Given the description of an element on the screen output the (x, y) to click on. 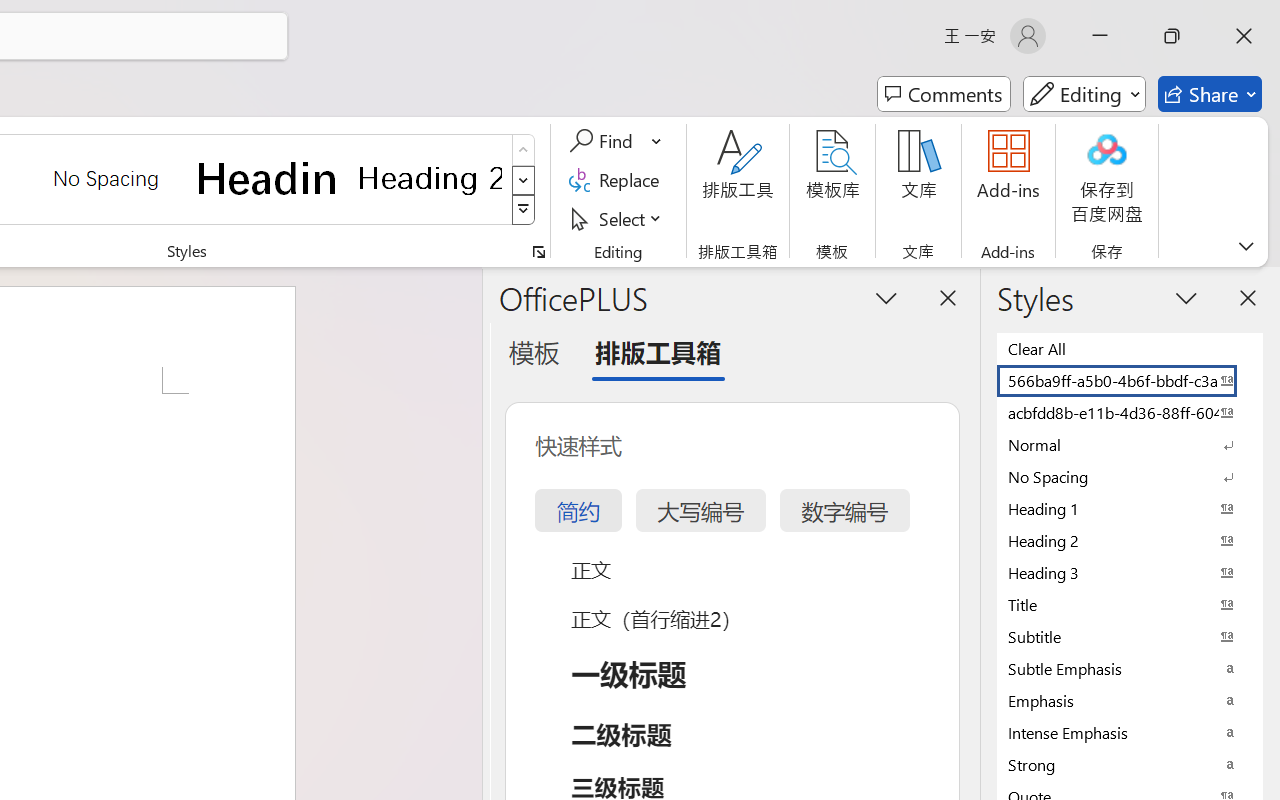
Subtle Emphasis (1130, 668)
Minimize (1099, 36)
Heading 2 (429, 178)
Find (604, 141)
Restore Down (1172, 36)
Styles... (538, 252)
Row Down (523, 180)
